Given the description of an element on the screen output the (x, y) to click on. 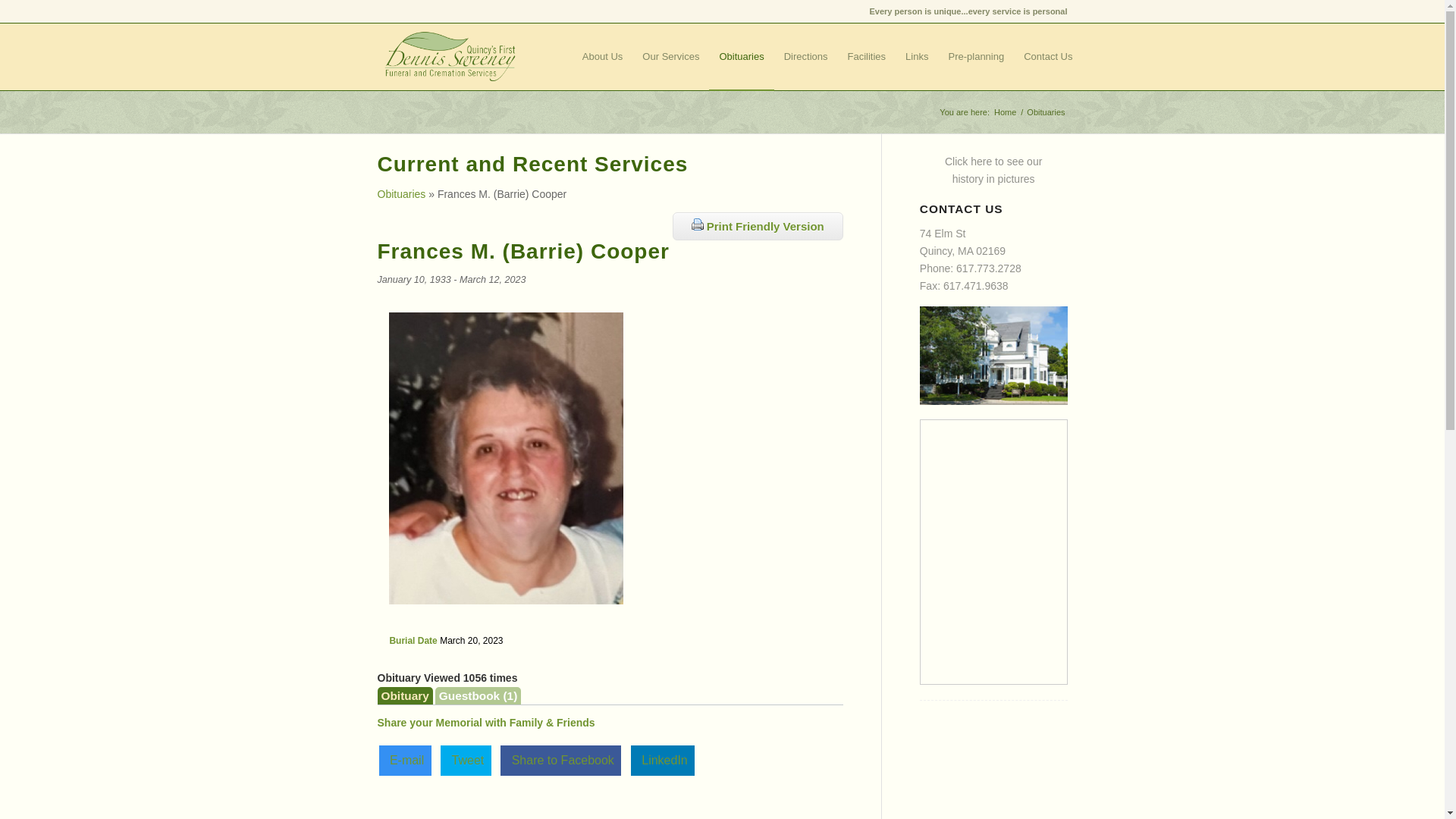
Quincy's First Dennis Sweeney Funeral and Cremation Services (1004, 112)
Obituary (404, 695)
About Us (601, 56)
Share to Facebook (560, 760)
Contact Us (1047, 56)
Tweet (466, 760)
Our Services (670, 56)
Directions (993, 170)
CONTACT US (806, 56)
